Given the description of an element on the screen output the (x, y) to click on. 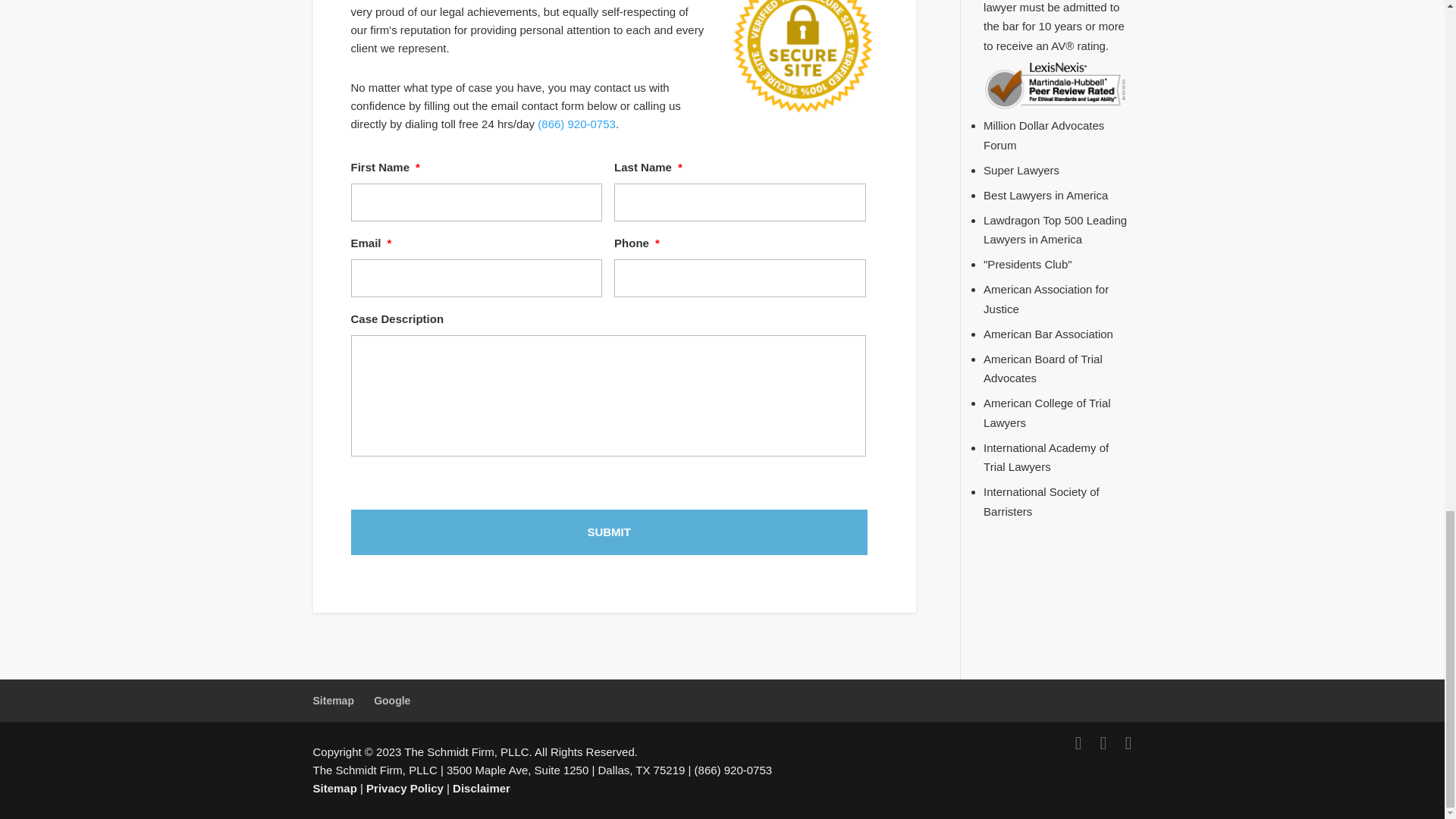
Google (392, 700)
Submit (608, 532)
Sitemap (333, 700)
Submit (608, 532)
